Given the description of an element on the screen output the (x, y) to click on. 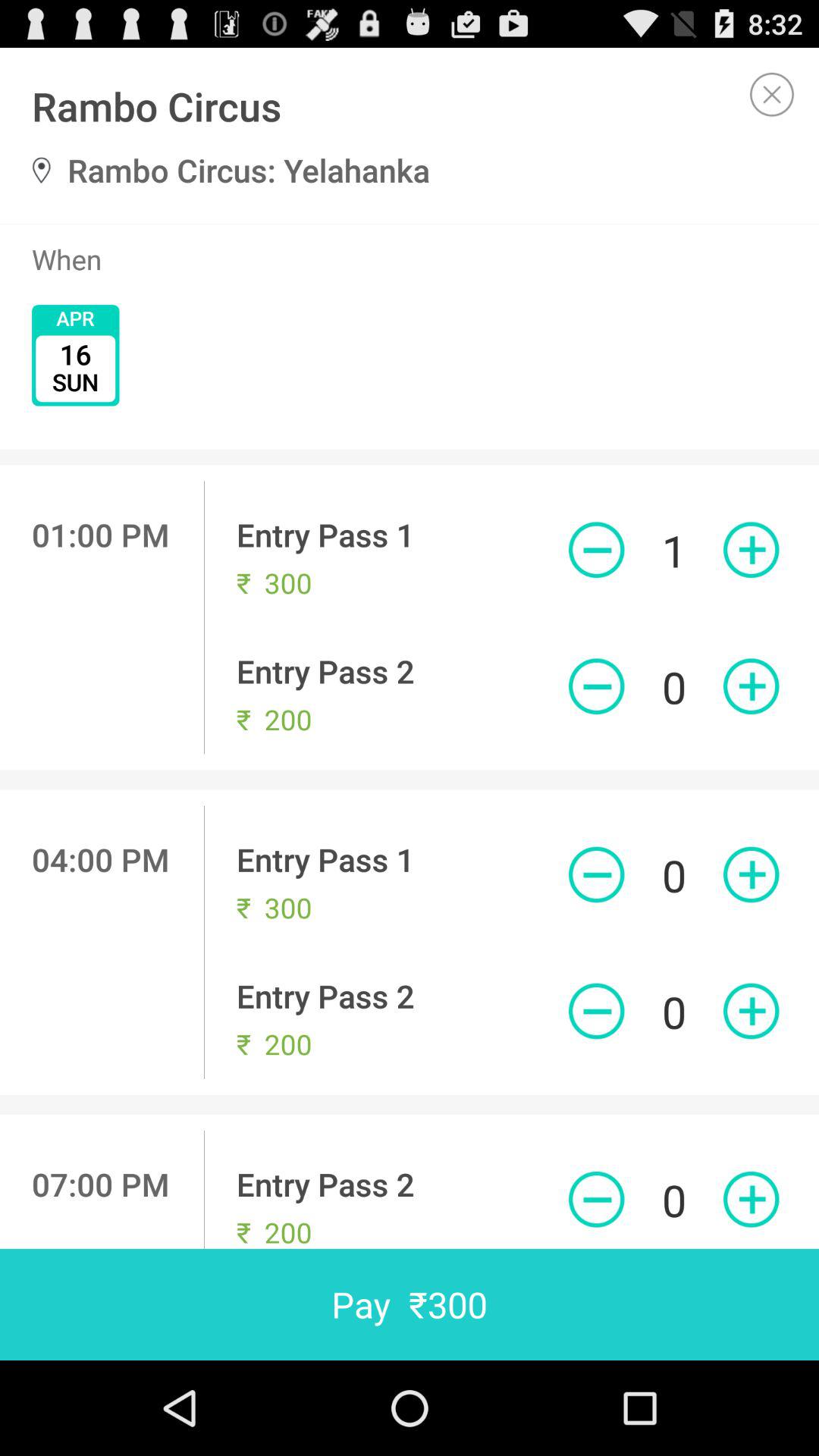
minus 1 4 pm entry pass 1 (596, 874)
